Given the description of an element on the screen output the (x, y) to click on. 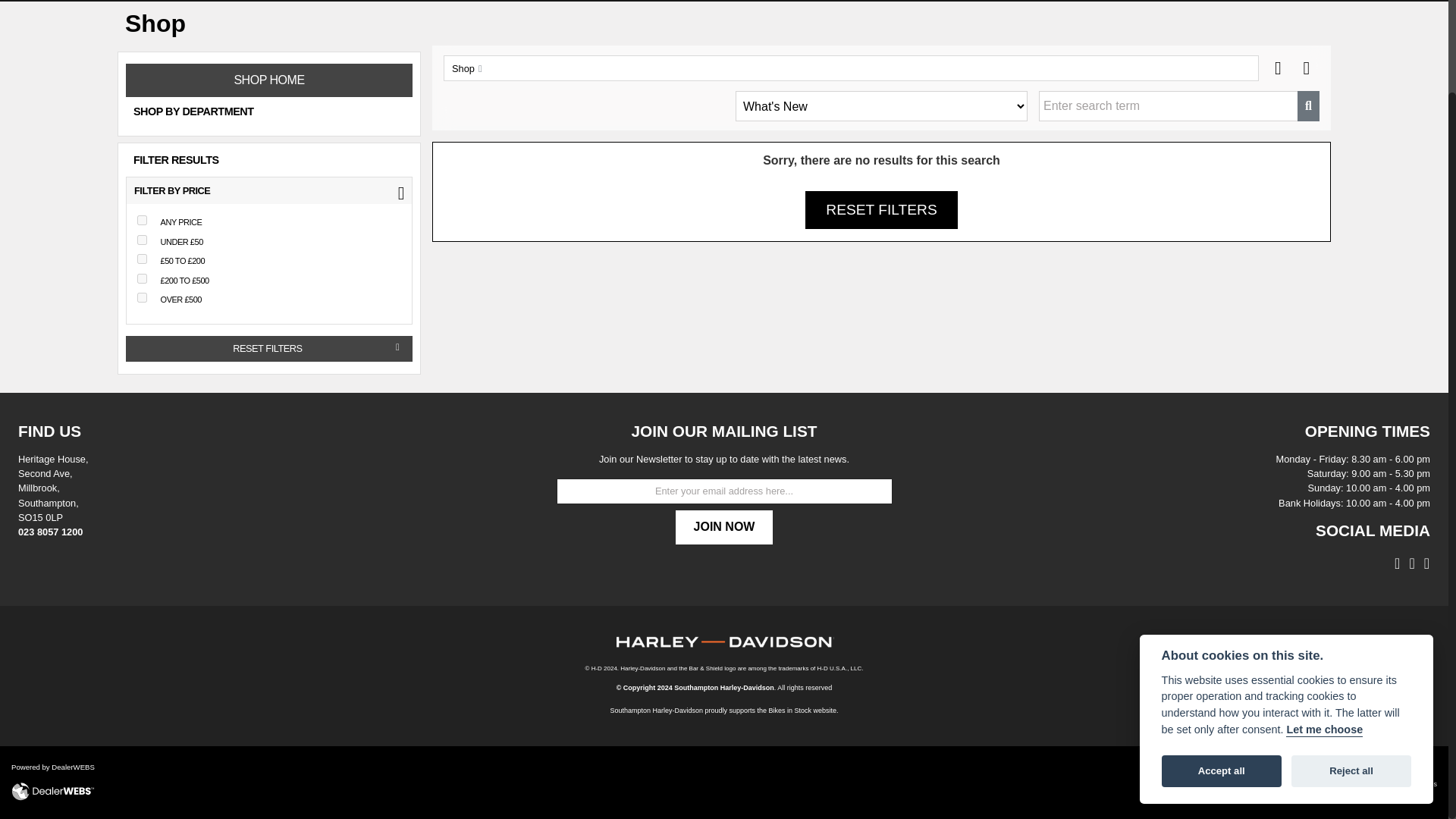
Admin Login (1352, 783)
Shop (465, 68)
FILTER BY PRICE (269, 190)
500- (141, 297)
Reject all (1350, 667)
Join our newsletter now (724, 526)
200-500 (141, 278)
Let me choose (1323, 626)
- (141, 220)
-50 (141, 239)
